Given the description of an element on the screen output the (x, y) to click on. 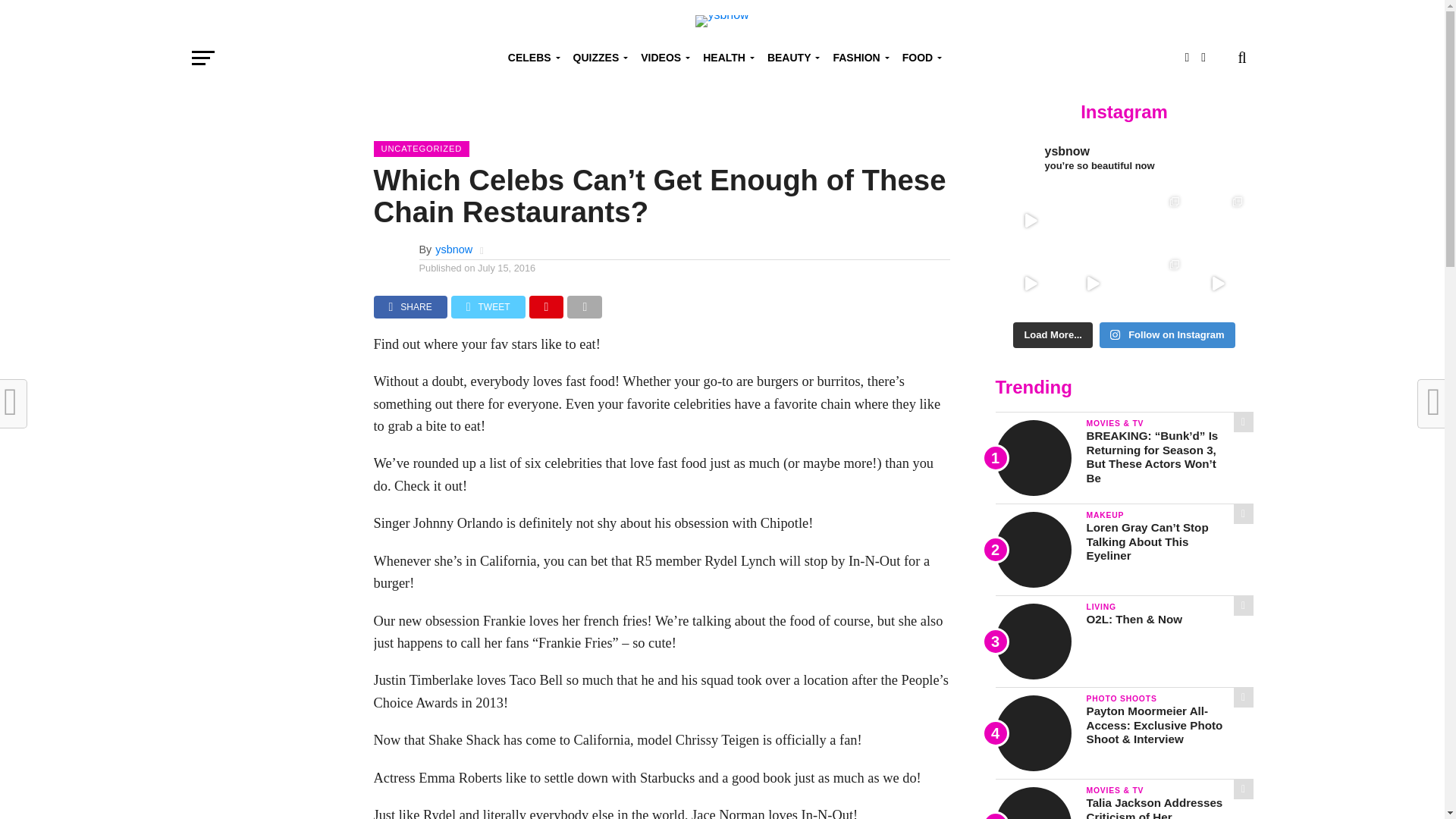
Posts by ysbnow (453, 249)
